Given the description of an element on the screen output the (x, y) to click on. 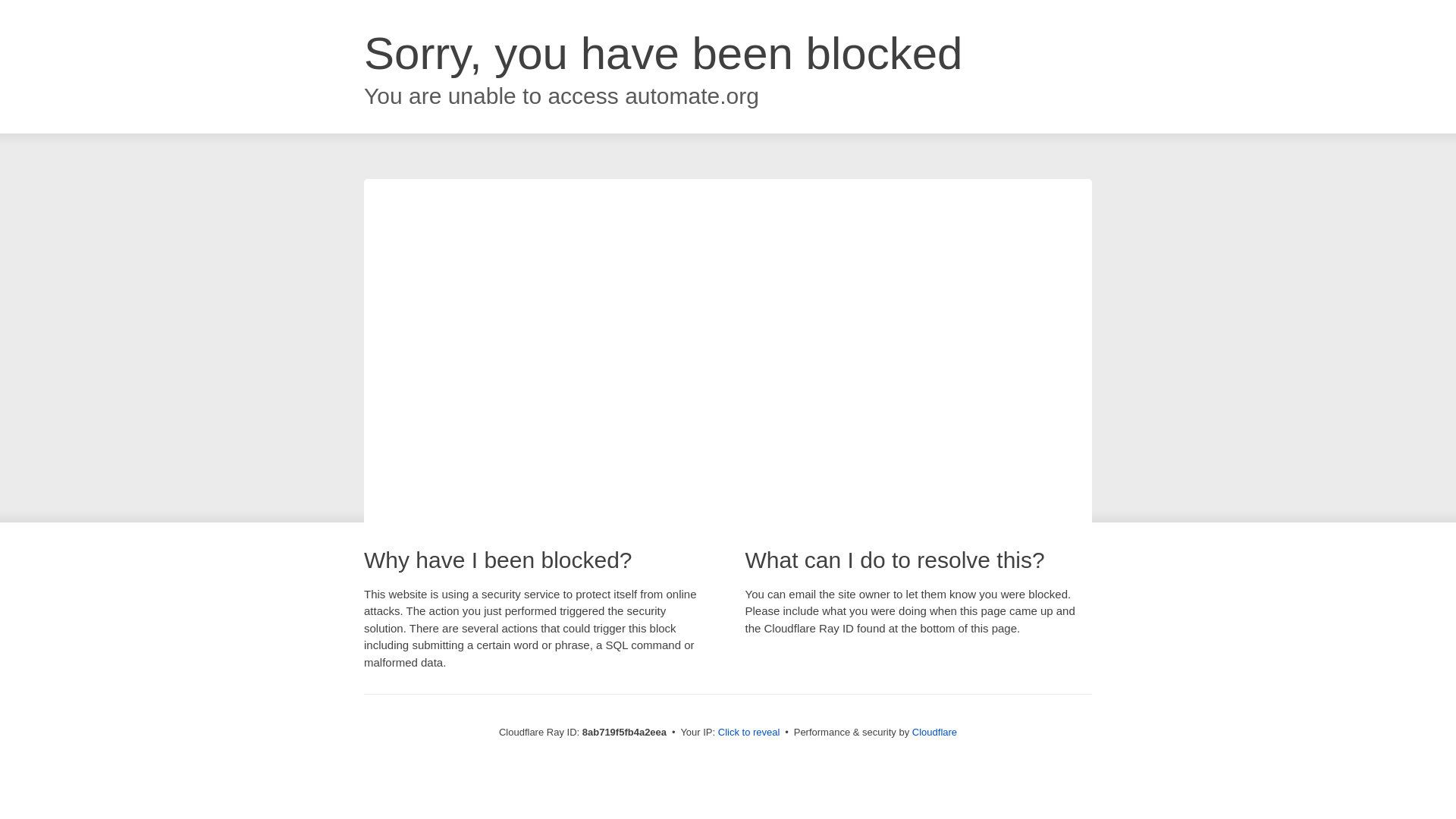
Click to reveal (748, 732)
Cloudflare (934, 731)
